Given the description of an element on the screen output the (x, y) to click on. 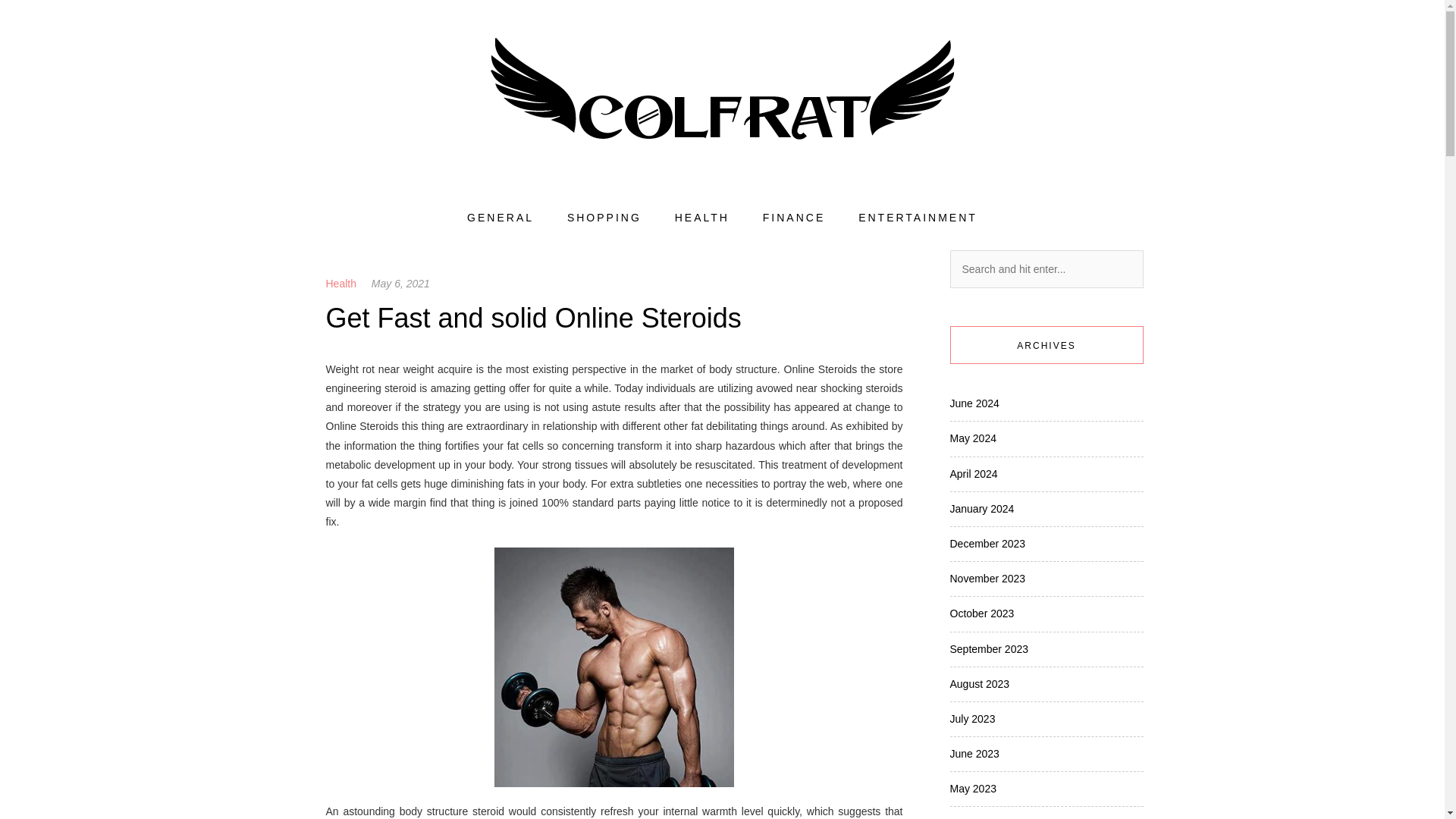
June 2024 (973, 403)
ENTERTAINMENT (917, 217)
January 2024 (981, 508)
June 2023 (973, 753)
FINANCE (793, 217)
September 2023 (988, 648)
November 2023 (987, 578)
SHOPPING (604, 217)
December 2023 (987, 543)
Health (341, 283)
